Given the description of an element on the screen output the (x, y) to click on. 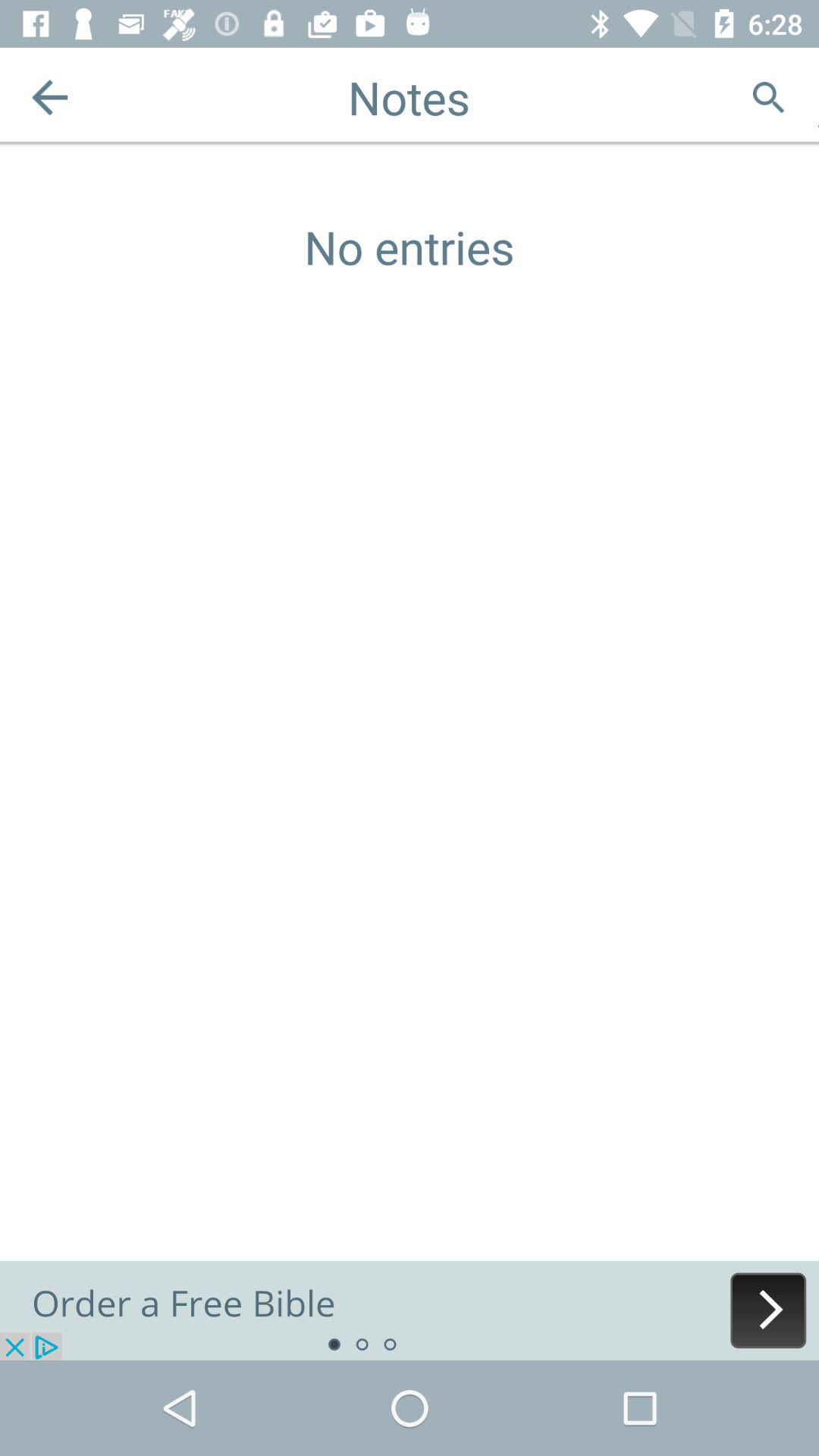
search (768, 97)
